Given the description of an element on the screen output the (x, y) to click on. 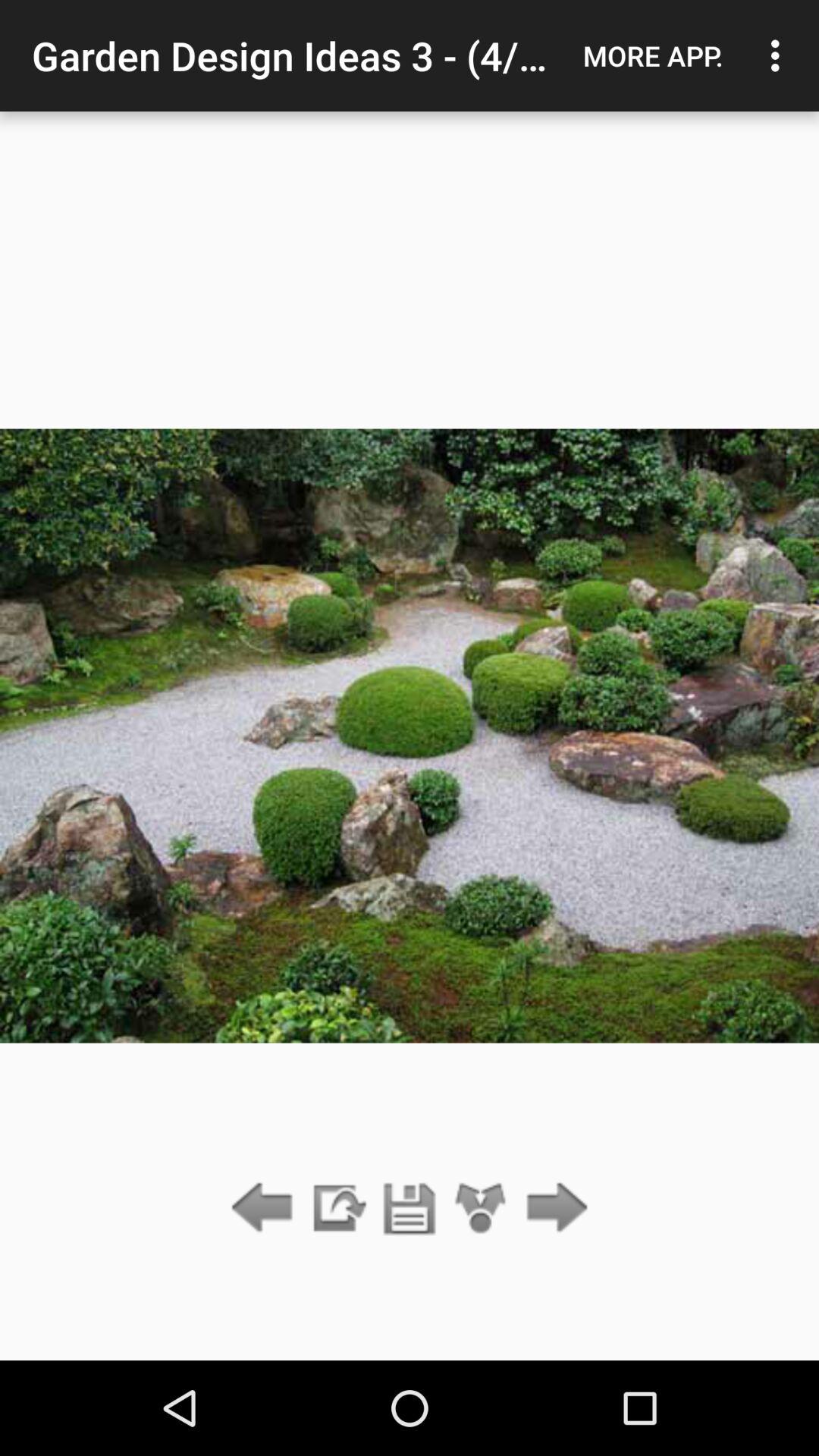
open item at the bottom right corner (552, 1209)
